Given the description of an element on the screen output the (x, y) to click on. 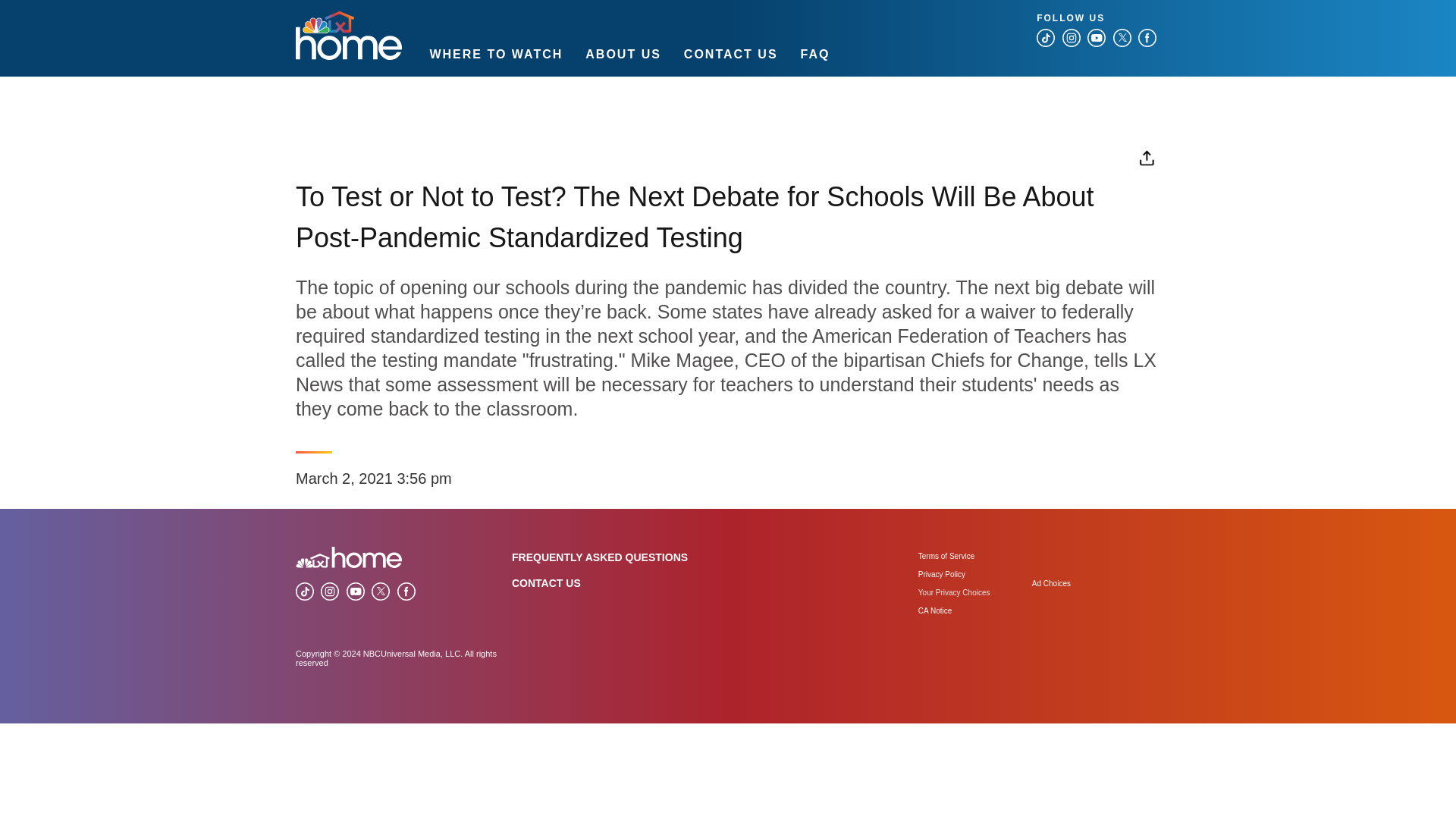
Twitter (380, 591)
WHERE TO WATCH (495, 53)
FAQ (814, 53)
ABOUT US (623, 53)
Youtube (355, 591)
Your Privacy Choices (975, 592)
Instagram (329, 591)
TikTok (304, 591)
FREQUENTLY ASKED QUESTIONS (599, 557)
Facebook (1147, 37)
